Given the description of an element on the screen output the (x, y) to click on. 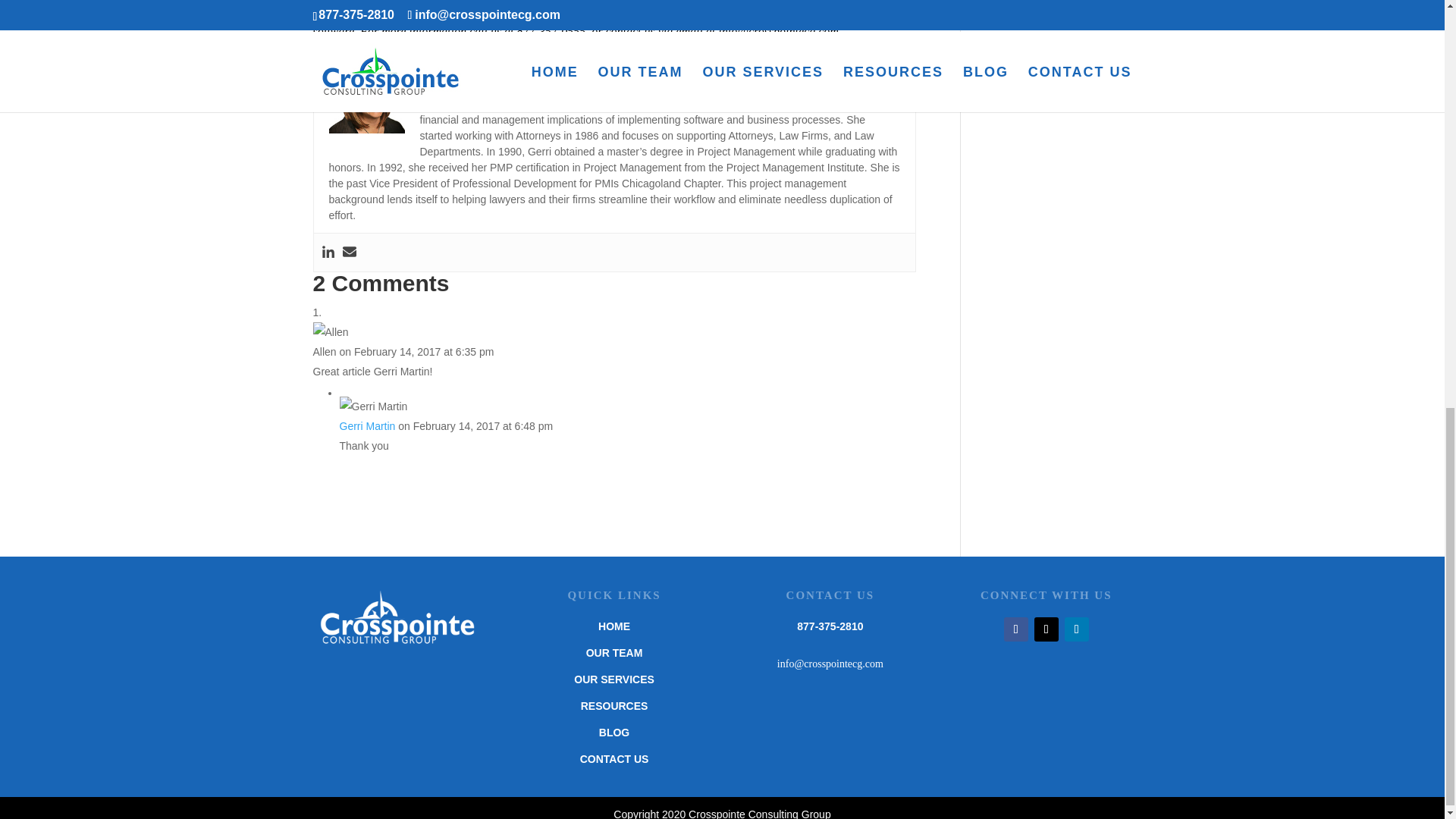
Gerri Martin (367, 426)
Follow on LinkedIn (1076, 629)
User email (349, 252)
Linkedin (327, 252)
Follow on X (1045, 629)
Follow on Facebook (1015, 629)
Gerri Martin (456, 66)
